Given the description of an element on the screen output the (x, y) to click on. 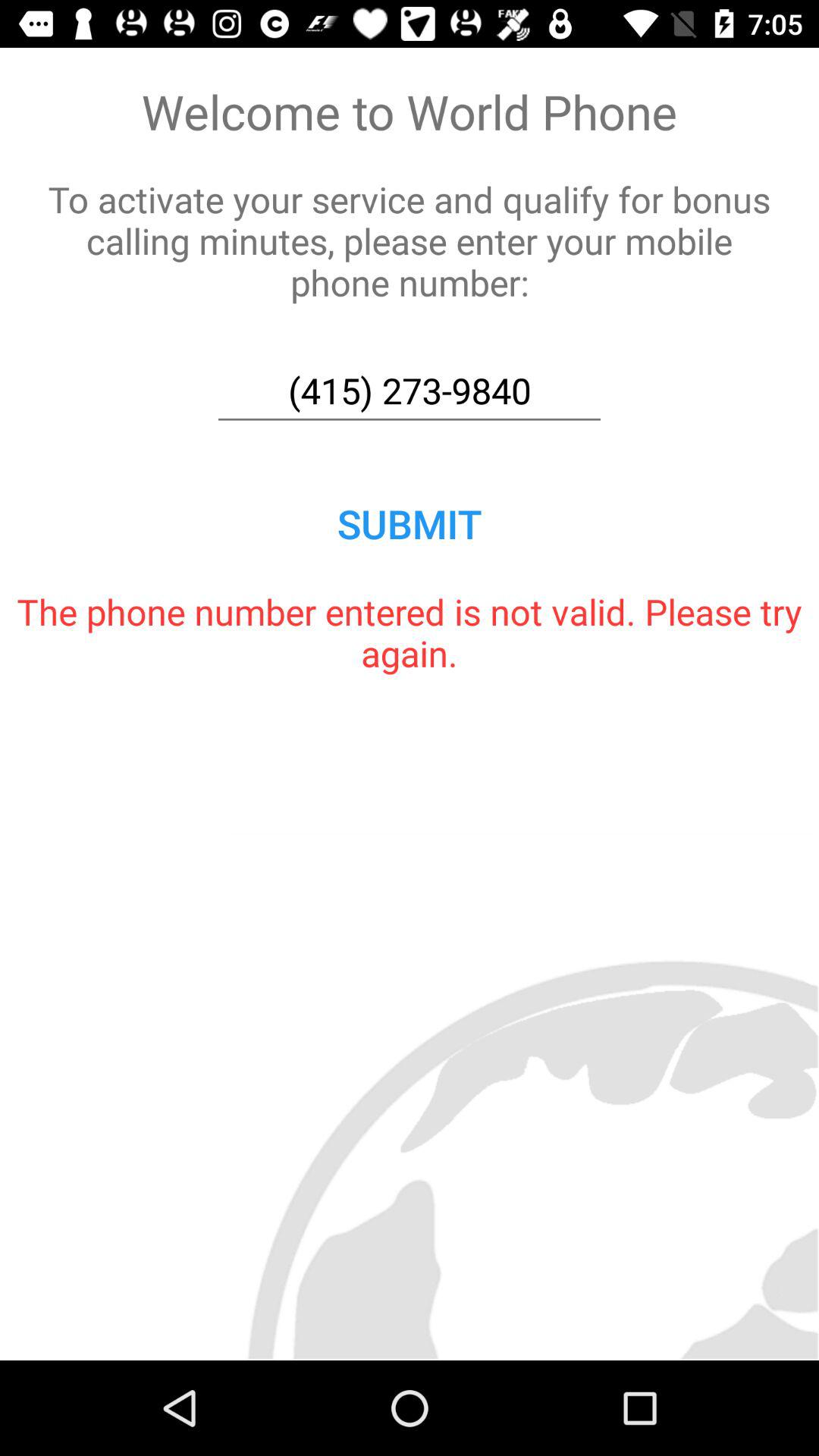
open the icon below to activate your icon (409, 391)
